Given the description of an element on the screen output the (x, y) to click on. 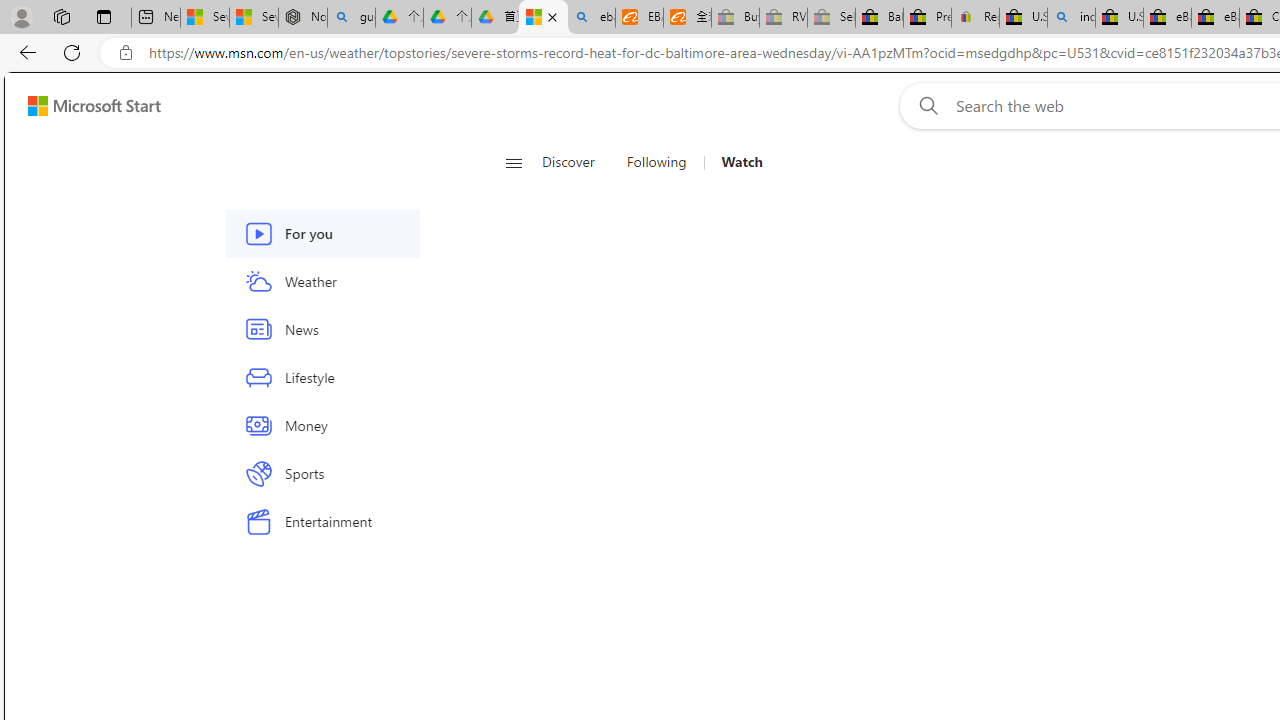
Press Room - eBay Inc. (927, 17)
Sell worldwide with eBay - Sleeping (831, 17)
including - Search (1071, 17)
guge yunpan - Search (351, 17)
U.S. State Privacy Disclosures - eBay Inc. (1119, 17)
Register: Create a personal eBay account (975, 17)
